Given the description of an element on the screen output the (x, y) to click on. 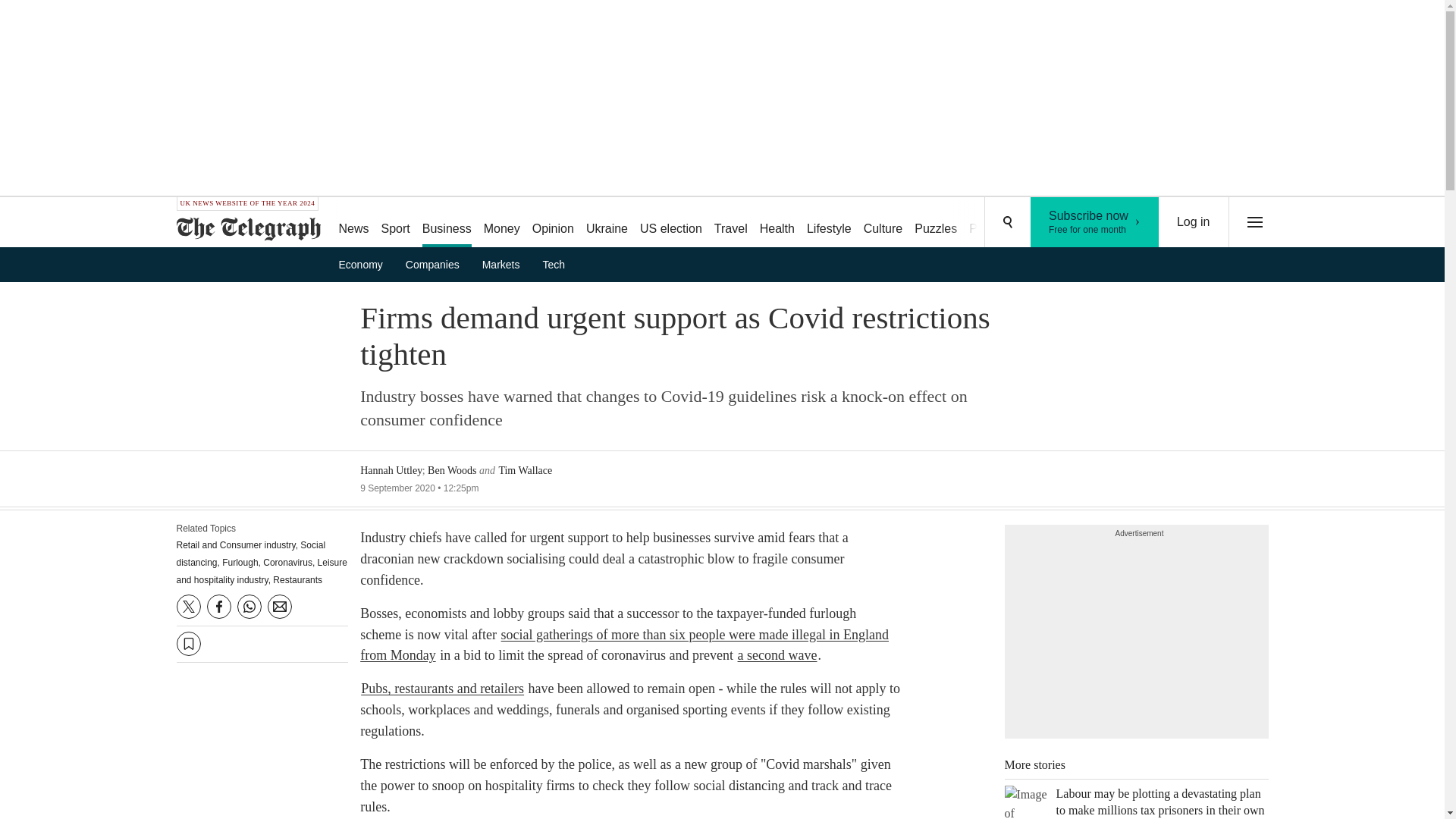
Health (777, 223)
US election (670, 223)
Puzzles (935, 223)
Lifestyle (828, 223)
Money (501, 223)
Opinion (552, 223)
Ukraine (606, 223)
Business (446, 223)
Podcasts (1094, 222)
